Given the description of an element on the screen output the (x, y) to click on. 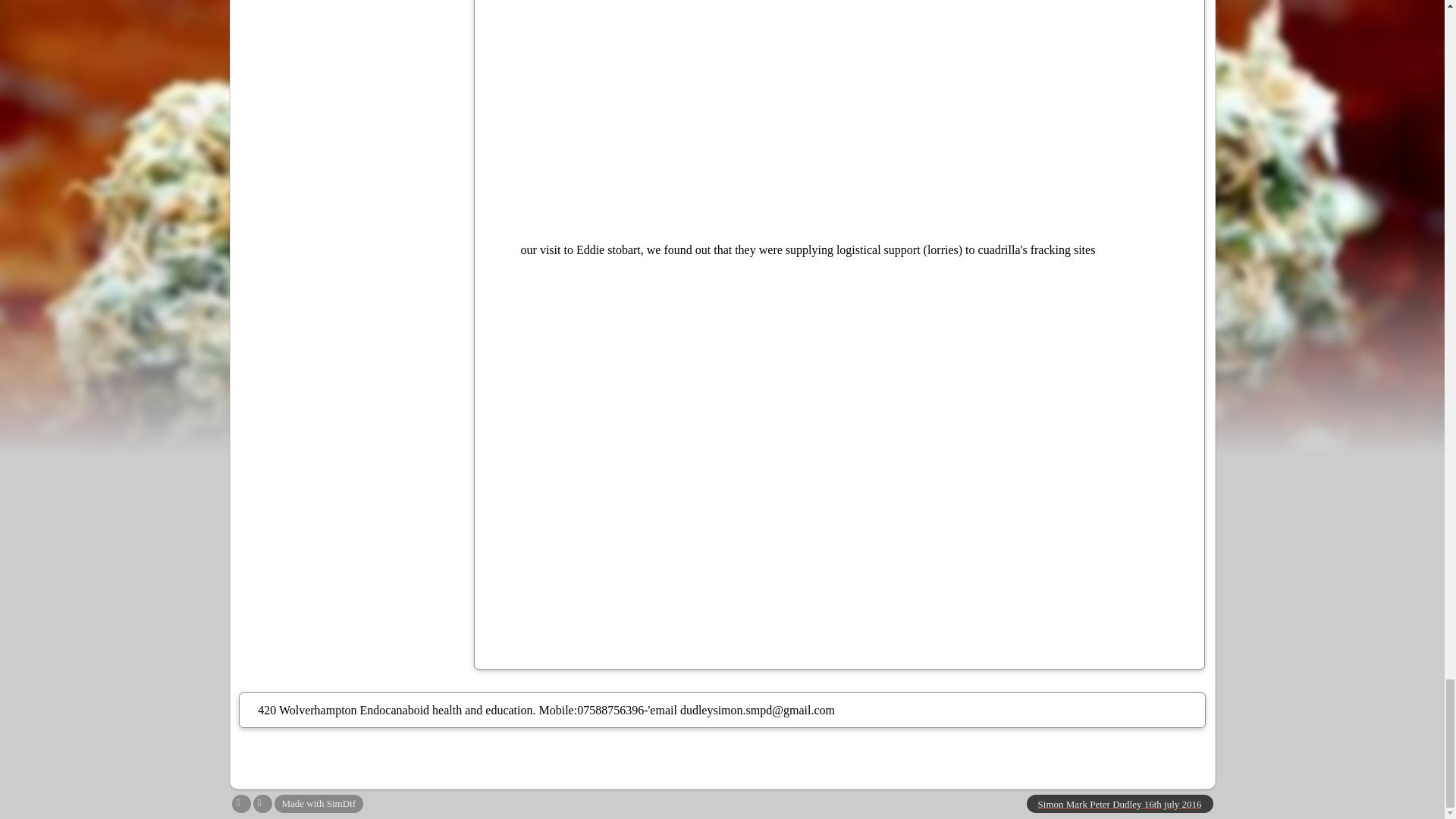
Simon Mark Peter Dudley 16th july 2016 (1119, 803)
